Given the description of an element on the screen output the (x, y) to click on. 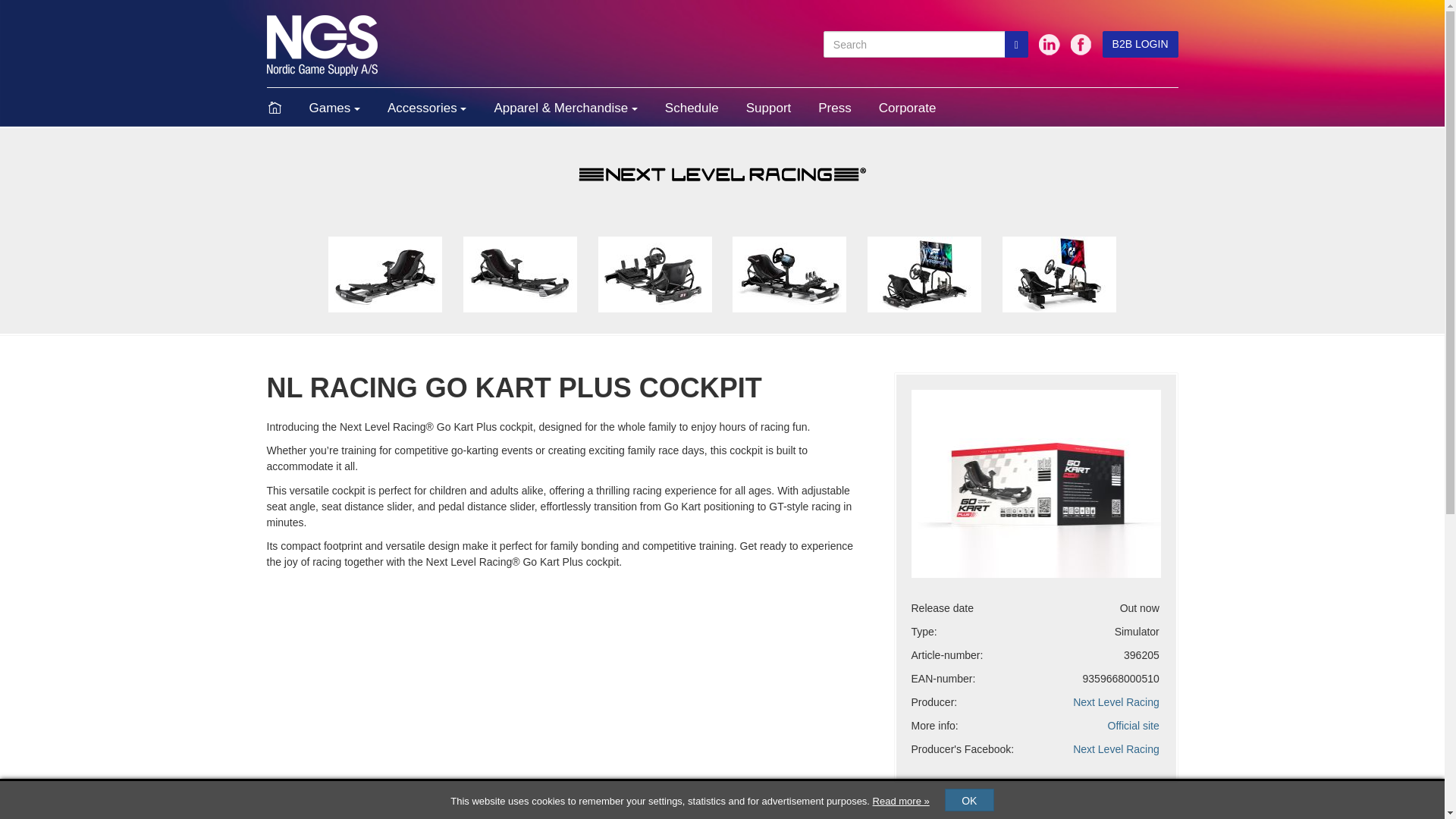
B2B LOGIN (1139, 44)
Home (281, 107)
Enter the terms you wish to search for. (915, 44)
Nordic Game Supply on LinkedIn (1049, 43)
Follow Nordic Game Supply on Facebook (1081, 43)
Nordic Game Supply (321, 44)
